Given the description of an element on the screen output the (x, y) to click on. 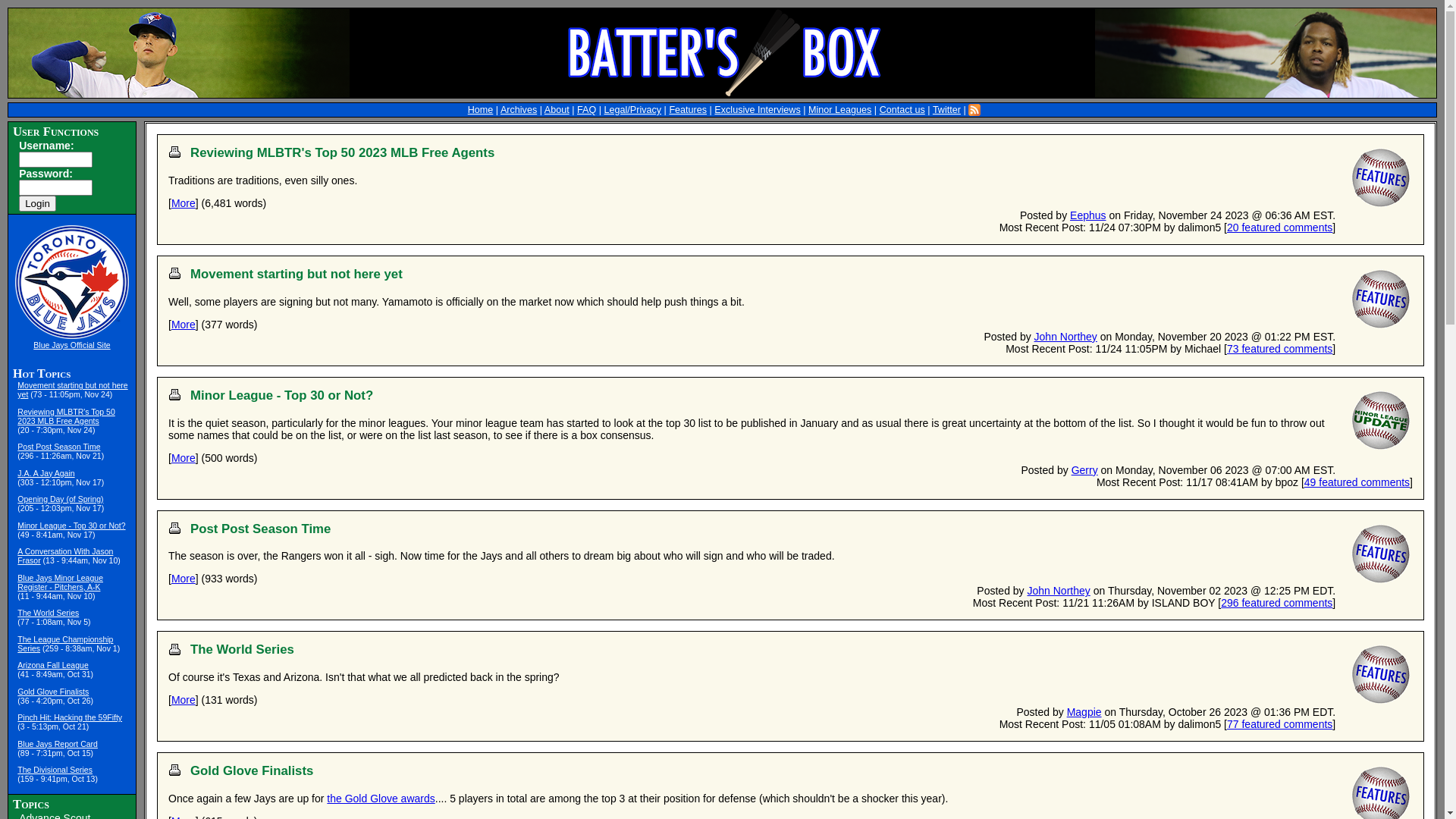
Printable Story Format Element type: hover (174, 151)
Post Post Season Time Element type: text (260, 528)
Batter's Box Feed Element type: hover (974, 109)
Login Element type: text (37, 203)
The World Series Element type: text (47, 612)
More Element type: text (183, 699)
Printable Story Format Element type: hover (174, 394)
Minor League - Top 30 or Not? Element type: text (281, 395)
Home Element type: text (480, 109)
Features Element type: hover (1380, 298)
About Element type: text (556, 109)
Opening Day (of Spring) Element type: text (60, 498)
Blue Jays Official Site Element type: text (71, 343)
Magpie Element type: text (1083, 712)
Blue Jays Minor League Register - Pitchers, A-K Element type: text (60, 582)
John Northey Element type: text (1065, 336)
Gold Glove Finalists Element type: text (251, 770)
Contact us Element type: text (902, 109)
More Element type: text (183, 324)
More Element type: text (183, 203)
Printable Story Format Element type: hover (174, 527)
Minor League - Top 30 or Not? Element type: text (71, 525)
77 featured comments Element type: text (1279, 724)
Legal/Privacy Element type: text (632, 109)
Pinch Hit: Hacking the 59Fifty Element type: text (69, 716)
Reviewing MLBTR's Top 50 2023 MLB Free Agents Element type: text (65, 416)
Exclusive Interviews Element type: text (757, 109)
20 featured comments Element type: text (1279, 227)
More Element type: text (183, 457)
Gerry Element type: text (1084, 470)
Arizona Fall League Element type: text (52, 664)
73 featured comments Element type: text (1279, 348)
A Conversation With Jason Frasor Element type: text (64, 555)
Printable Story Format Element type: hover (174, 272)
The Divisional Series Element type: text (54, 769)
Features Element type: text (687, 109)
J.A. A Jay Again Element type: text (45, 472)
The World Series Element type: text (242, 649)
The League Championship Series Element type: text (64, 643)
John Northey Element type: text (1057, 590)
Blue Jays Report Card Element type: text (57, 743)
Printable Story Format Element type: hover (174, 769)
Features Element type: hover (1380, 177)
Movement starting but not here yet Element type: text (296, 273)
296 featured comments Element type: text (1276, 602)
Movement starting but not here yet Element type: text (72, 389)
Printable Story Format Element type: hover (174, 649)
Features Element type: hover (1380, 553)
Eephus Element type: text (1087, 215)
Minor League Update Element type: hover (1380, 420)
Reviewing MLBTR's Top 50 2023 MLB Free Agents Element type: text (342, 152)
FAQ Element type: text (586, 109)
Gold Glove Finalists Element type: text (52, 691)
Twitter Element type: text (946, 109)
Features Element type: hover (1380, 674)
Post Post Season Time Element type: text (58, 446)
the Gold Glove awards Element type: text (380, 798)
Archives Element type: text (518, 109)
More Element type: text (183, 578)
Minor Leagues Element type: text (839, 109)
49 featured comments Element type: text (1356, 482)
